Given the description of an element on the screen output the (x, y) to click on. 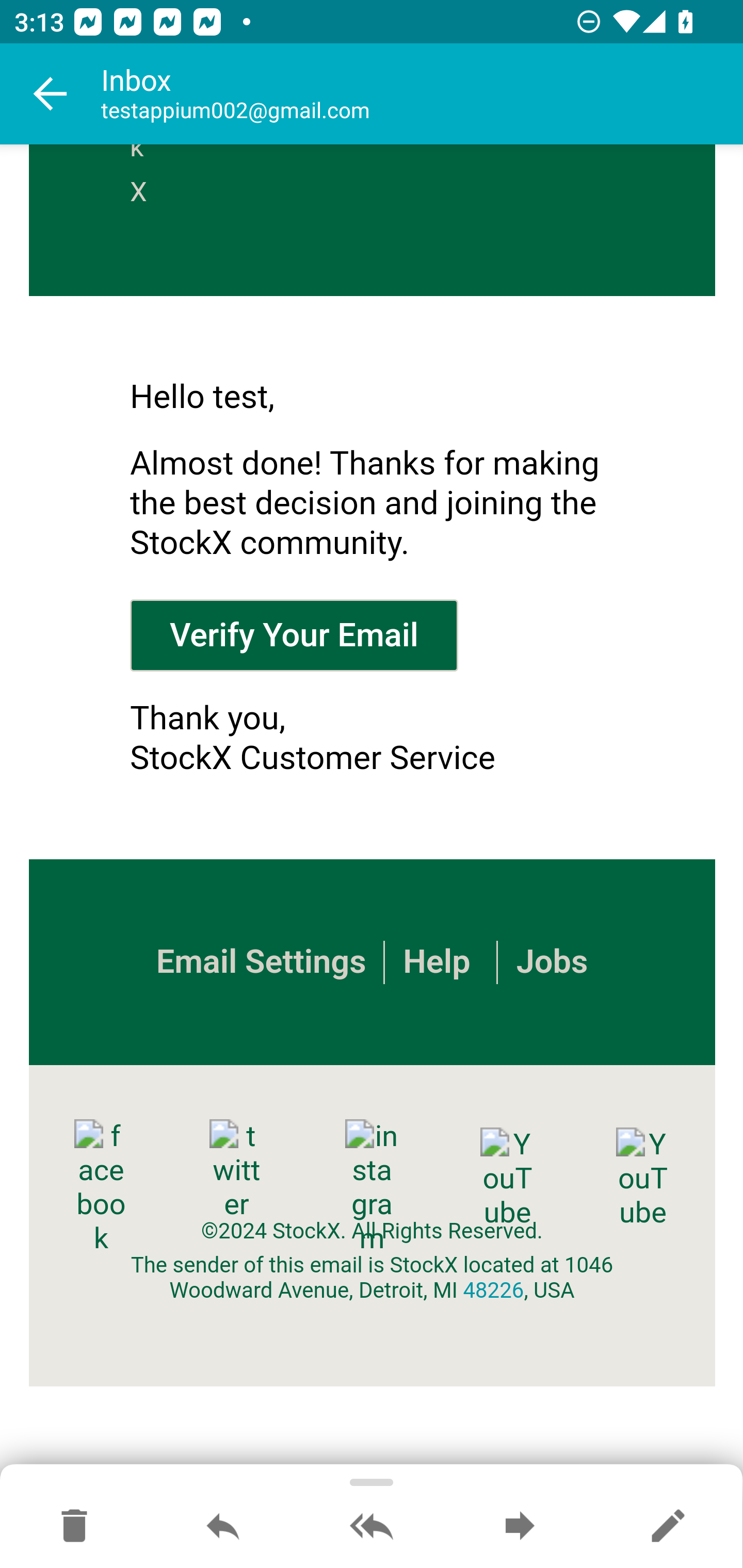
Navigate up (50, 93)
Inbox testappium002@gmail.com (422, 93)
StockX (145, 180)
Verify Your Email (293, 634)
Email Settings (260, 961)
Help (436, 961)
Jobs (551, 961)
facebook (101, 1187)
twitter (236, 1170)
instagram (372, 1187)
YouTube (507, 1177)
YouTube (642, 1177)
48226 (493, 1290)
Move to Deleted (74, 1527)
Reply (222, 1527)
Reply all (371, 1527)
Forward (519, 1527)
Reply as new (667, 1527)
